Given the description of an element on the screen output the (x, y) to click on. 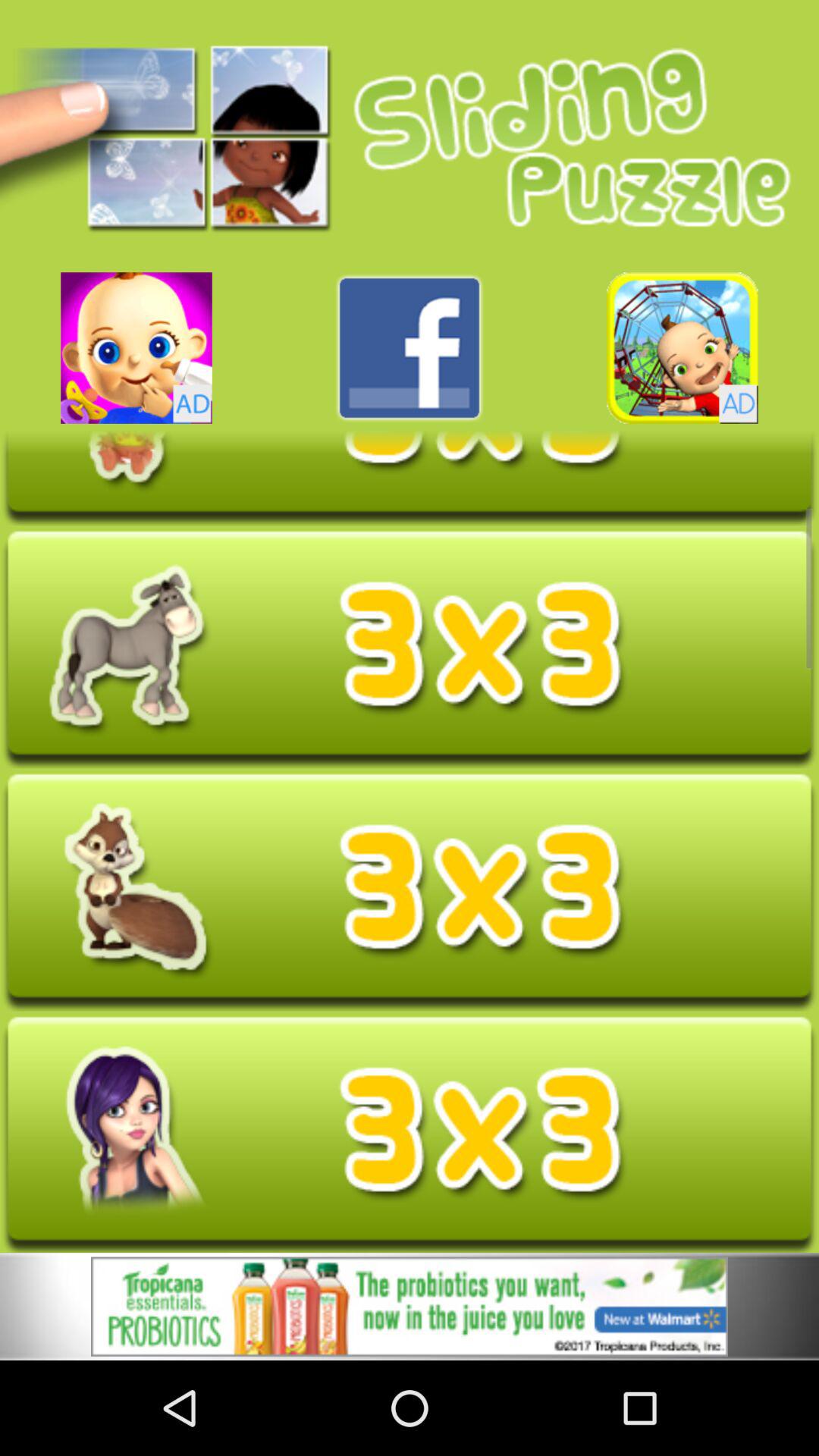
go to advert (682, 347)
